Given the description of an element on the screen output the (x, y) to click on. 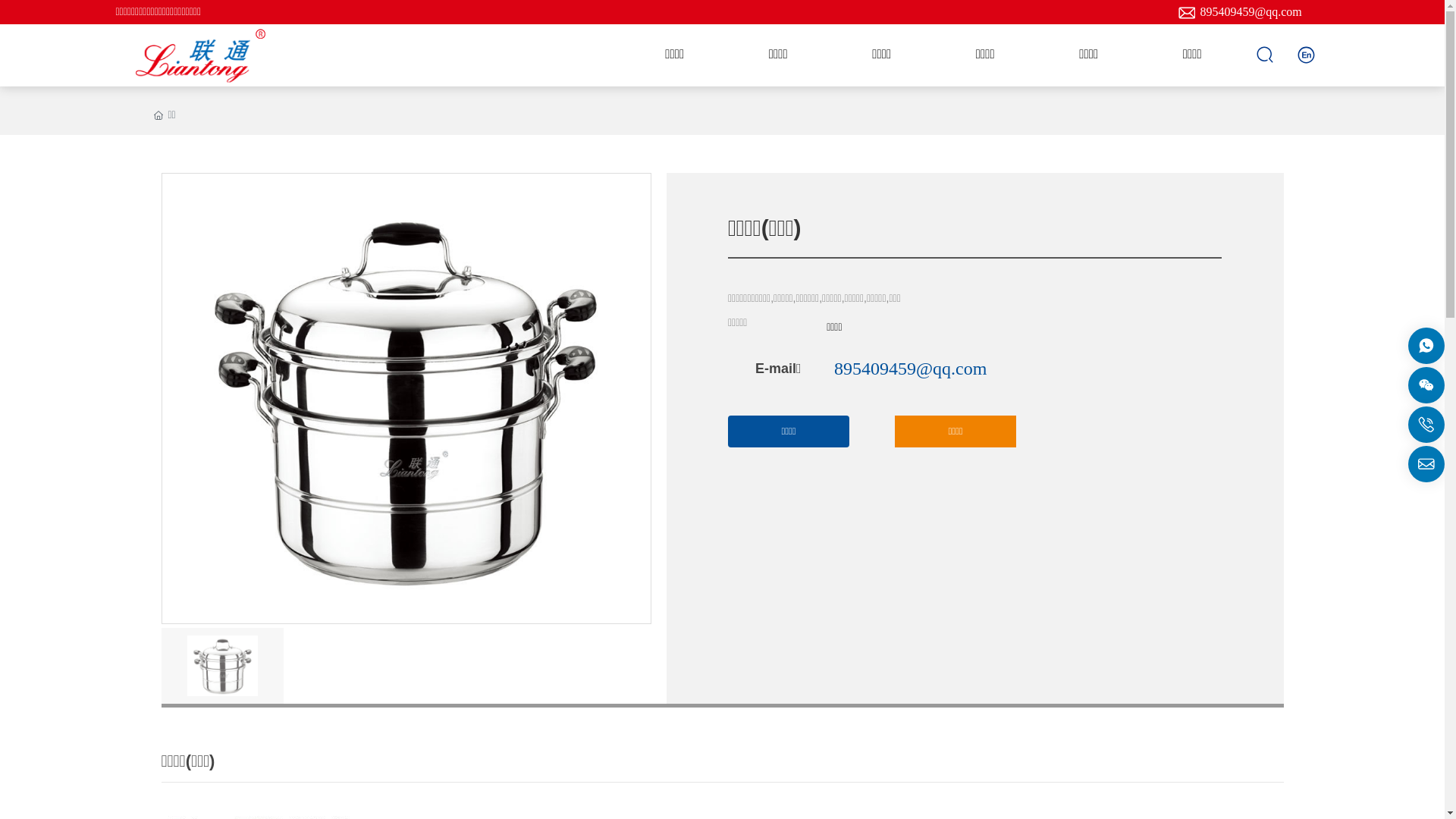
CONTACT Element type: hover (1306, 53)
895409459@qq.com Element type: text (910, 368)
Message Element type: hover (1426, 345)
e-mail Element type: hover (737, 369)
895409459@qq.com Element type: text (1250, 11)
